Given the description of an element on the screen output the (x, y) to click on. 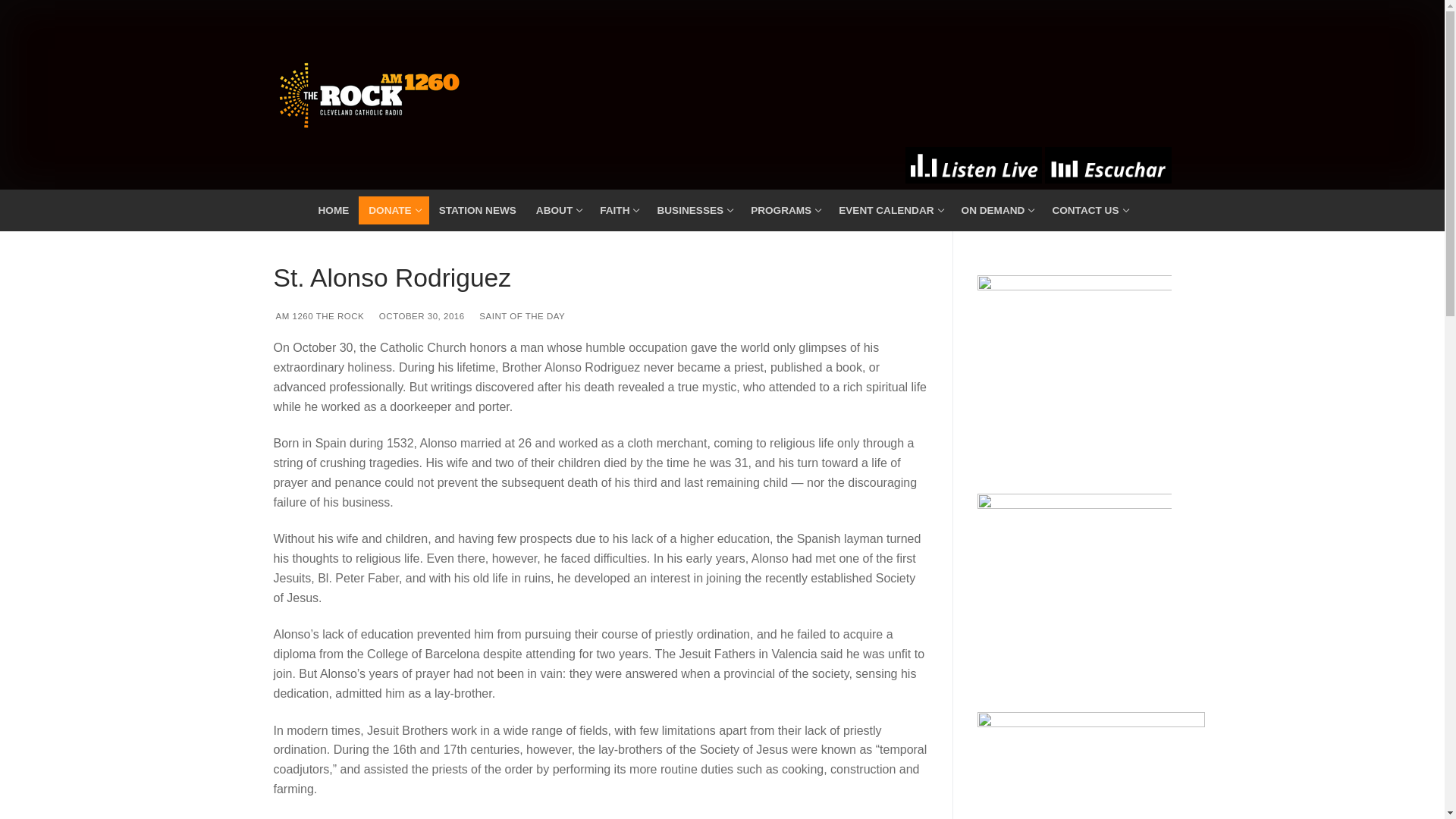
STATION NEWS (889, 210)
HOME (693, 210)
